Given the description of an element on the screen output the (x, y) to click on. 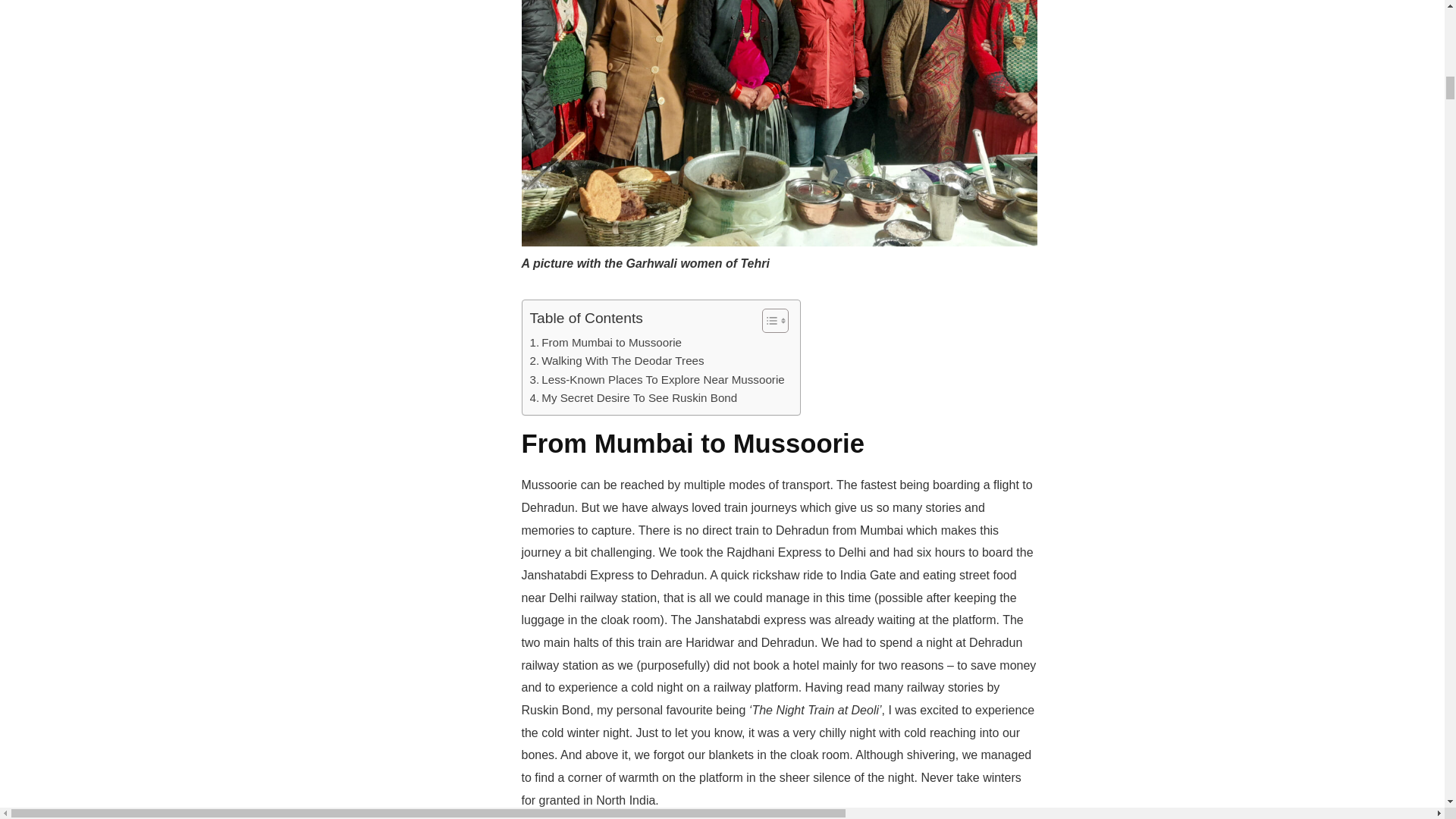
Walking With The Deodar Trees (616, 361)
From Mumbai to Mussoorie (605, 342)
My Secret Desire To See Ruskin Bond (633, 398)
Less-Known Places To Explore Near Mussoorie (656, 380)
